Given the description of an element on the screen output the (x, y) to click on. 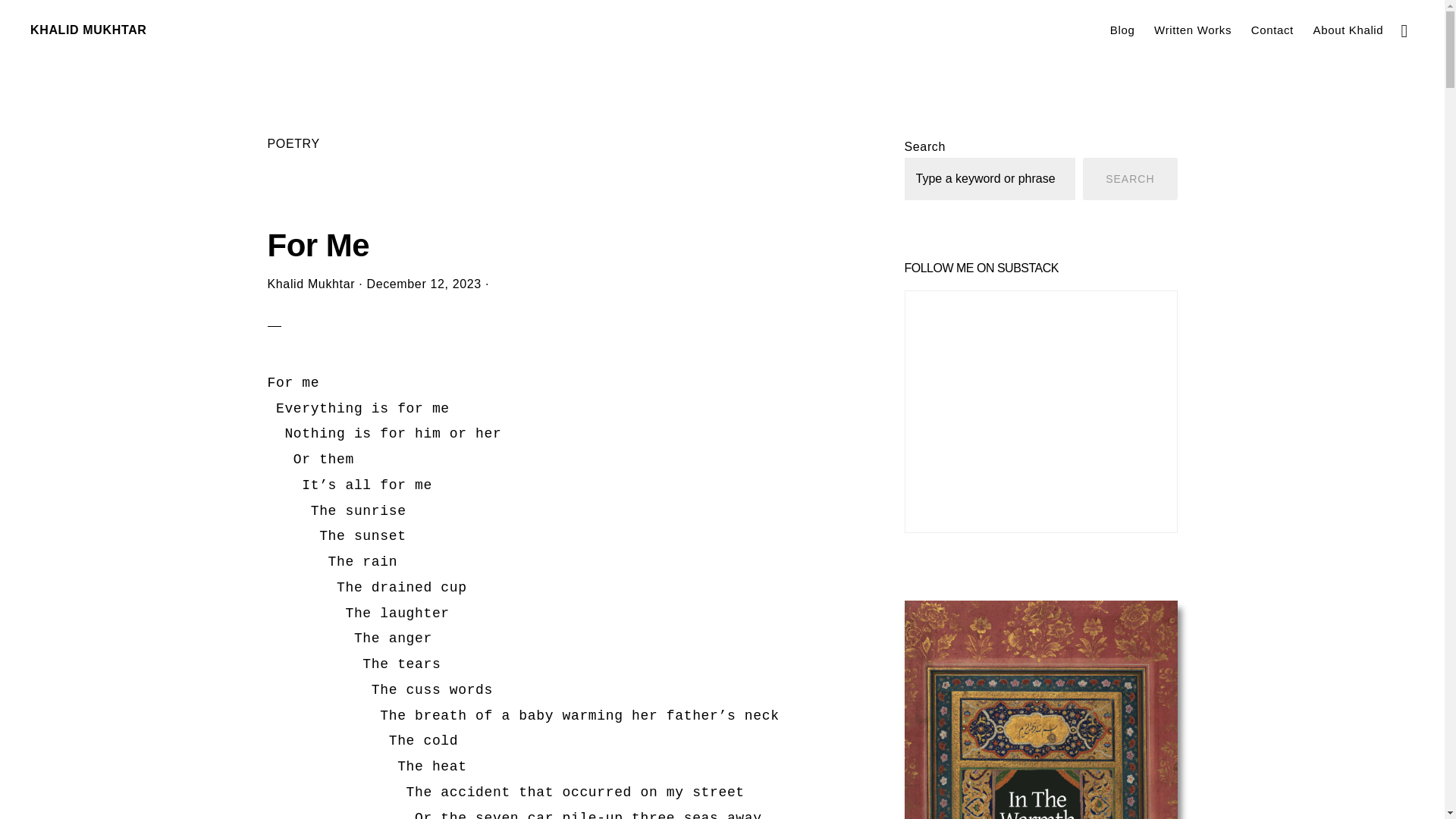
About Khalid (1348, 29)
Written Works (1193, 29)
Blog (1122, 29)
Khalid Mukhtar (310, 283)
For Me (317, 244)
KHALID MUKHTAR (88, 29)
Contact (1272, 29)
